Given the description of an element on the screen output the (x, y) to click on. 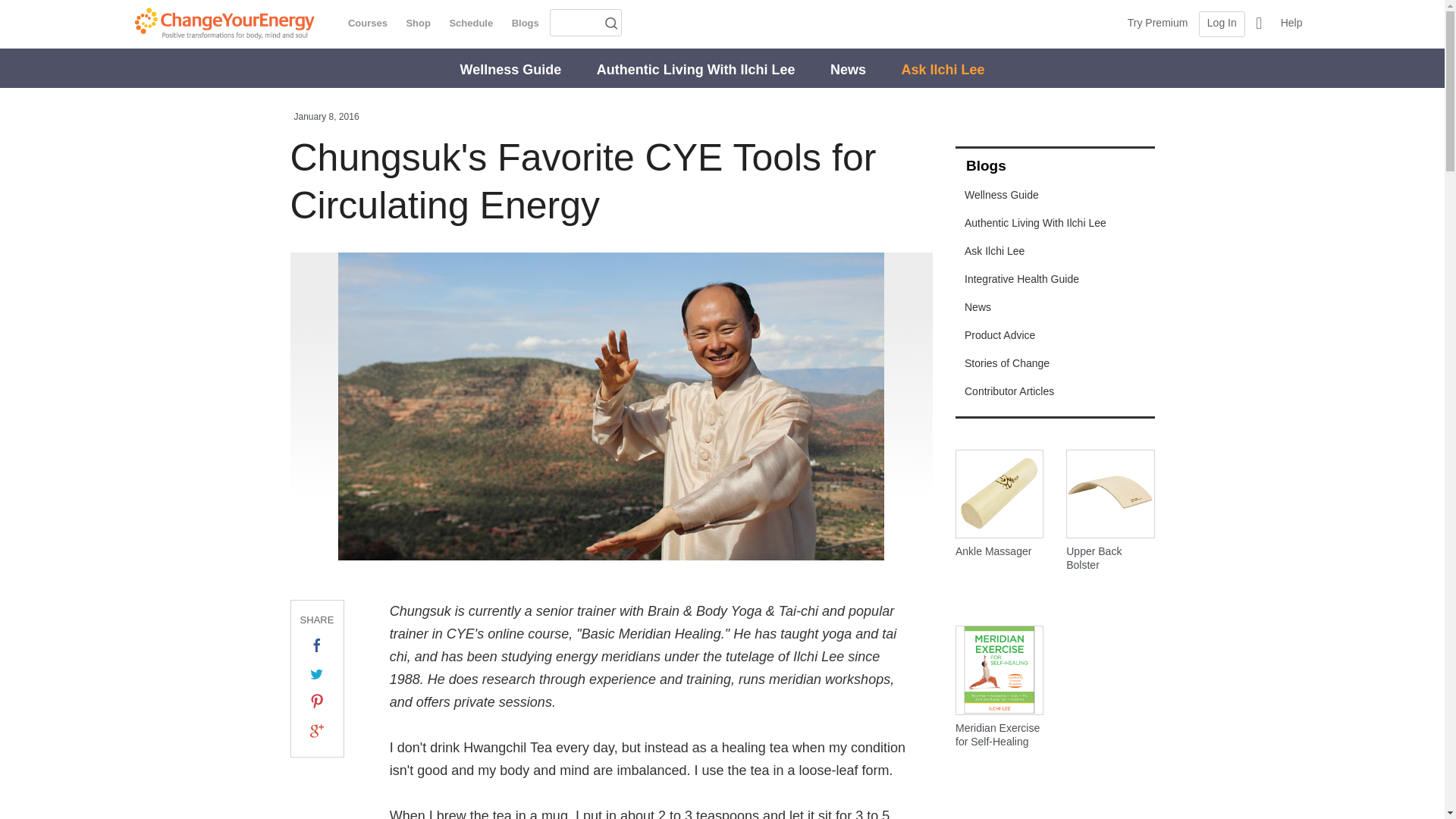
Ask Ilchi Lee (942, 69)
Google (316, 730)
Facebook (316, 645)
Pinterest (316, 701)
Twitter (316, 673)
Log In (1221, 23)
Wellness Guide (510, 69)
Help (1291, 24)
Pinterest (316, 699)
Try Premium (1157, 24)
Shop (417, 22)
Twitter (316, 672)
Blogs (525, 22)
Schedule (470, 22)
Positive transformations for body, mind and soul (218, 23)
